Given the description of an element on the screen output the (x, y) to click on. 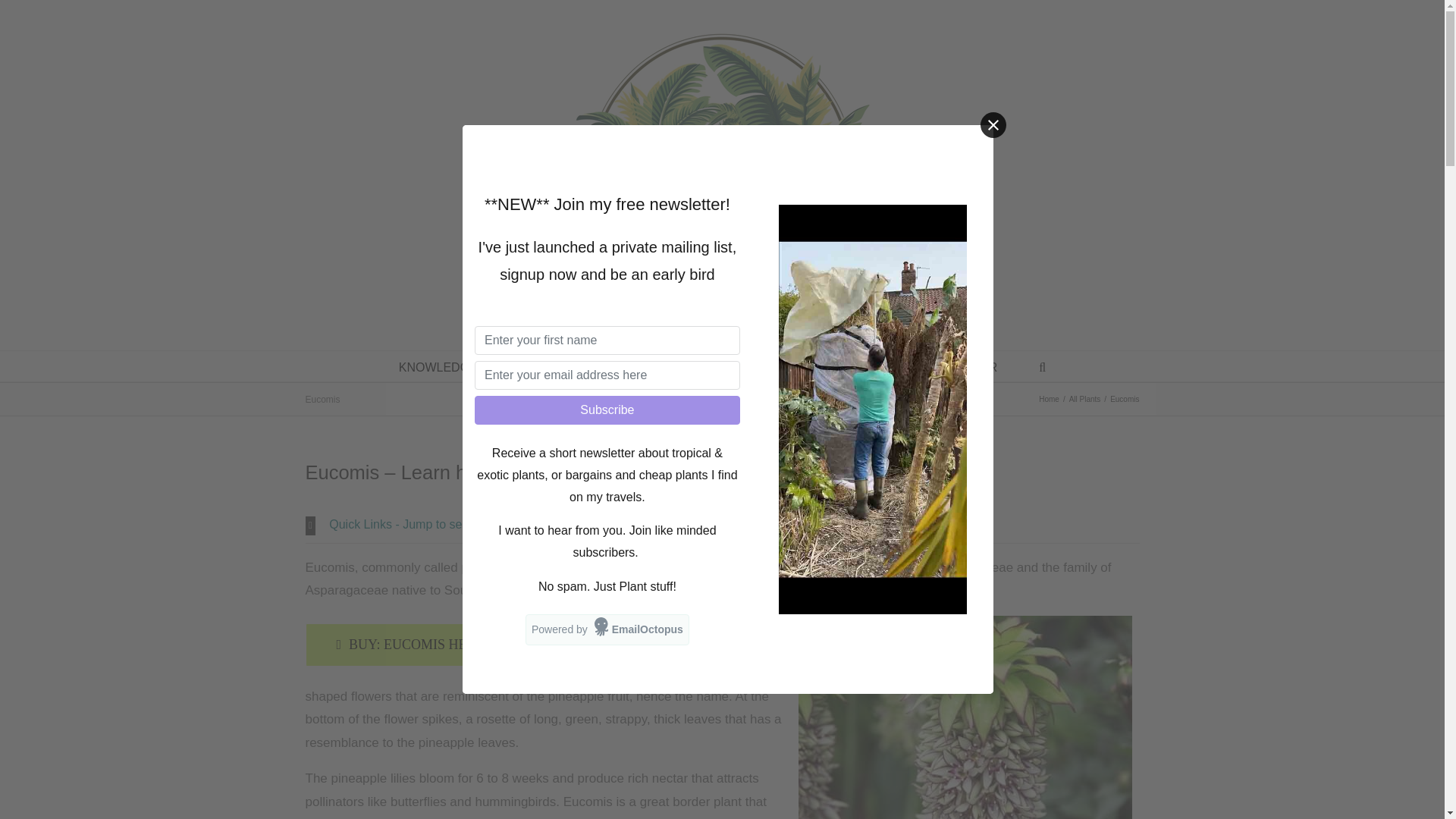
Home (1049, 397)
All Plants (1084, 397)
BUY: EUCOMIS HERE FROM UK SELLERS (472, 644)
Subscribe (606, 410)
FIND TROPICAL PLANTS (714, 366)
Quick Links - Jump to section (721, 524)
FIND PLANTS (714, 366)
ABOUT (815, 366)
WHERE TO START? (576, 366)
KNOWLEDGE (437, 366)
Button Text (472, 644)
KNOWLEDGE (437, 366)
FREE NEWSLETTER (938, 366)
ABOUT (815, 366)
FREE NEWSLETTER (938, 366)
